Given the description of an element on the screen output the (x, y) to click on. 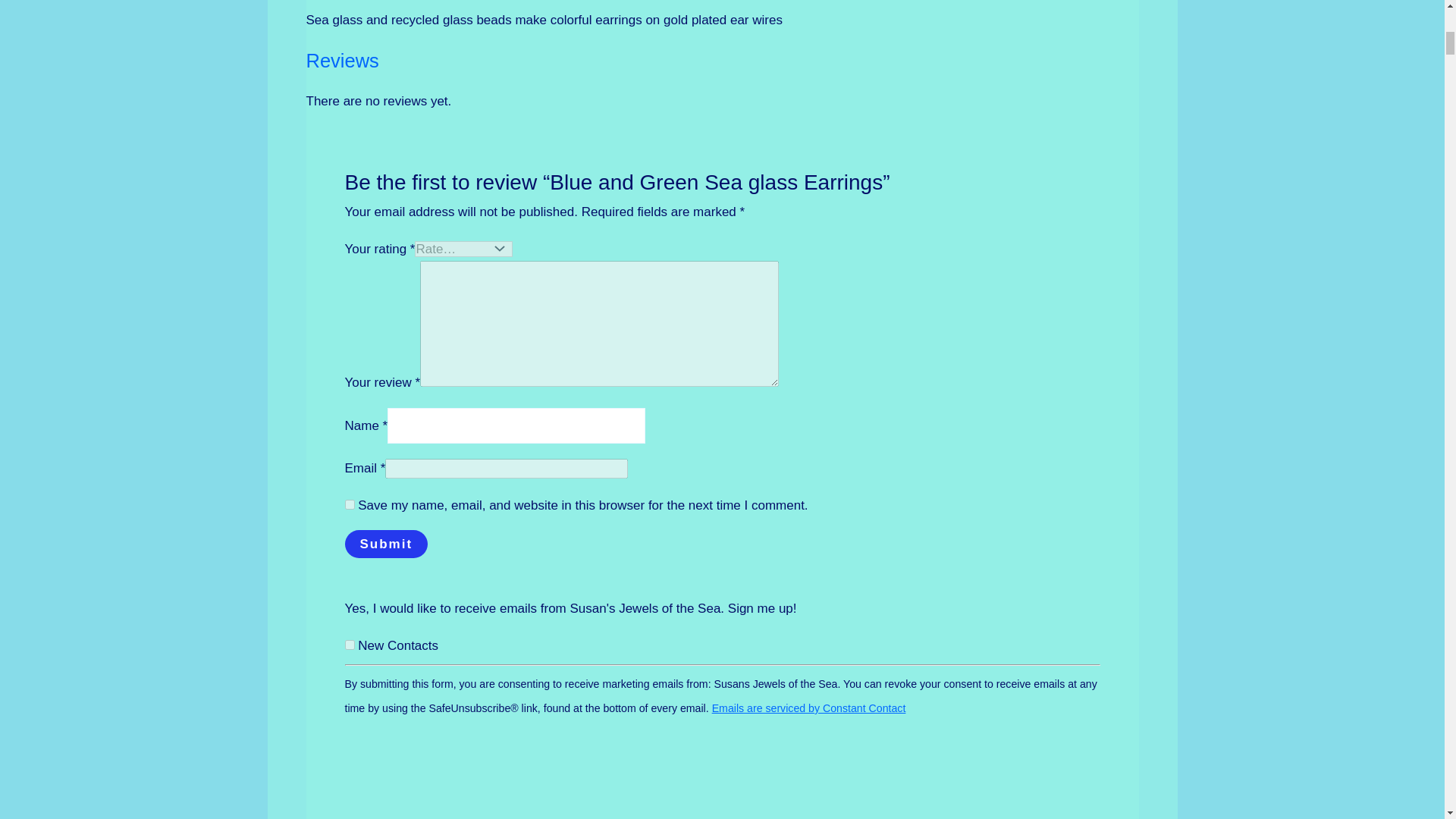
yes (348, 504)
c785b9a0-0439-11ec-b013-fa163e470cab (348, 644)
Submit (385, 543)
